Given the description of an element on the screen output the (x, y) to click on. 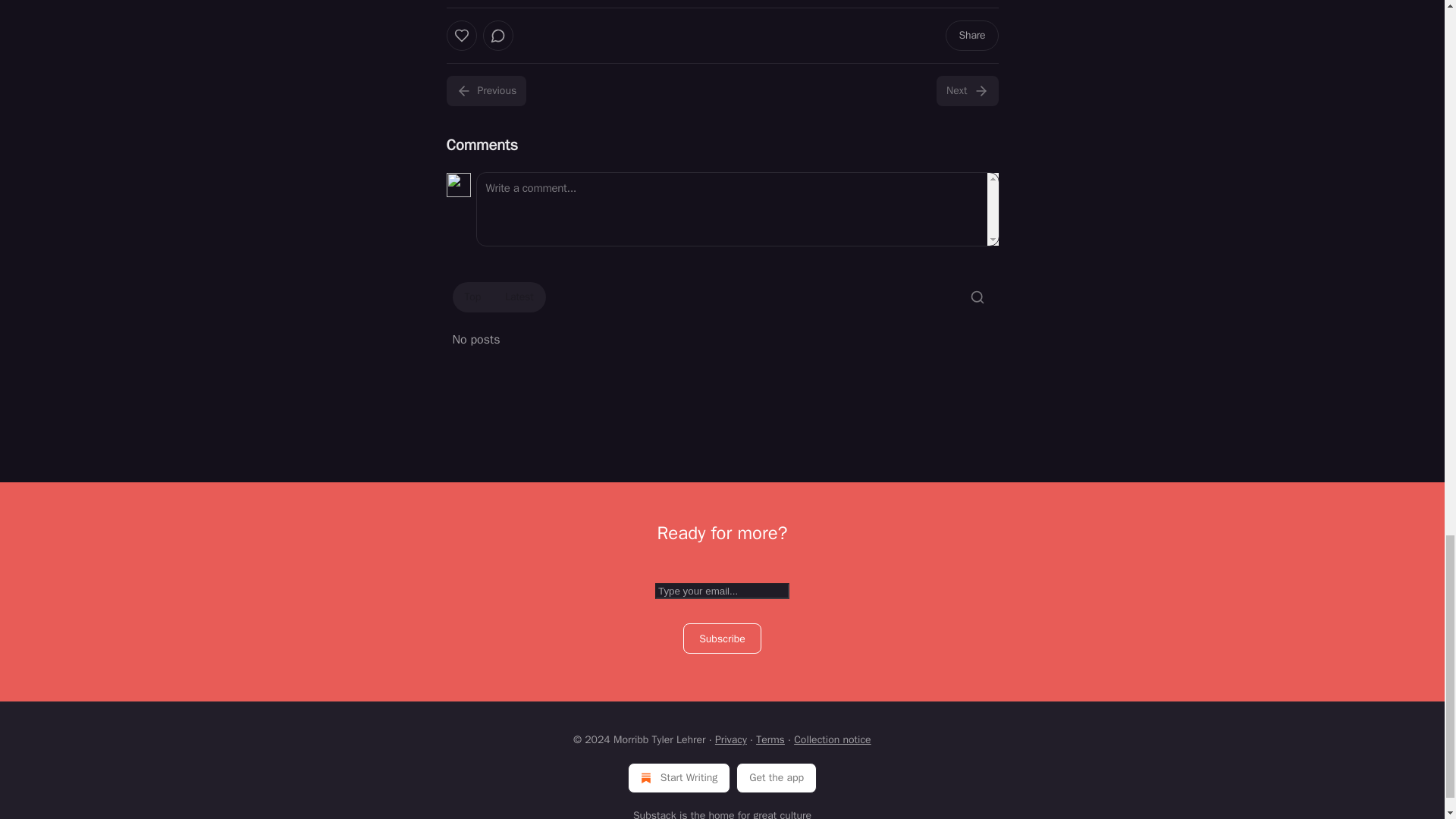
Previous (485, 91)
Share (970, 35)
Latest (518, 297)
Subscribe (721, 638)
Collection notice (831, 739)
Top (471, 297)
Start Writing (678, 777)
Terms (769, 739)
Next (966, 91)
Privacy (730, 739)
